Given the description of an element on the screen output the (x, y) to click on. 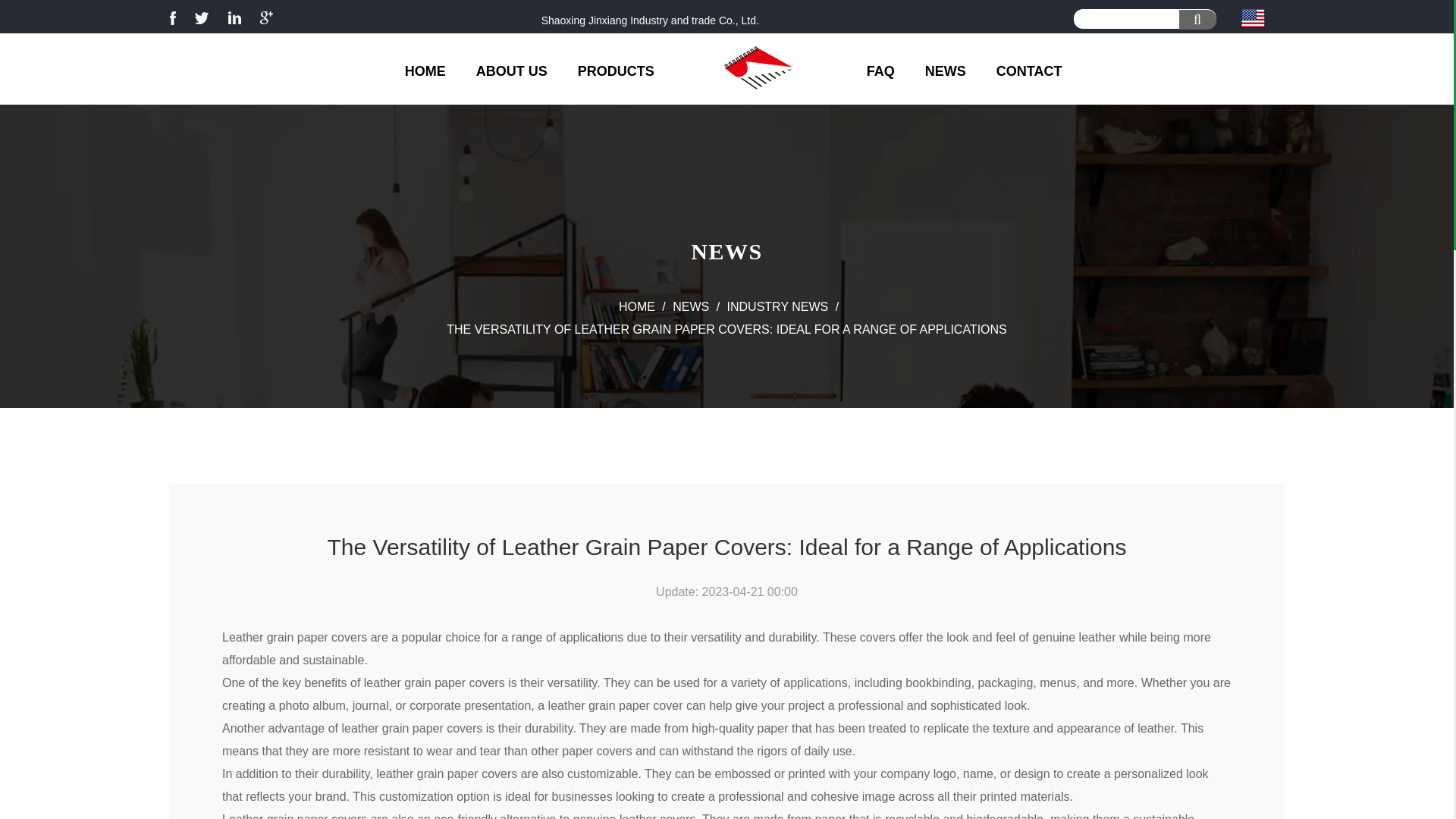
PRODUCTS (615, 71)
CONTACT (1028, 71)
ABOUT US (511, 71)
Shaoxing Jinxiang Industry and trade Co., Ltd. (649, 20)
